Given the description of an element on the screen output the (x, y) to click on. 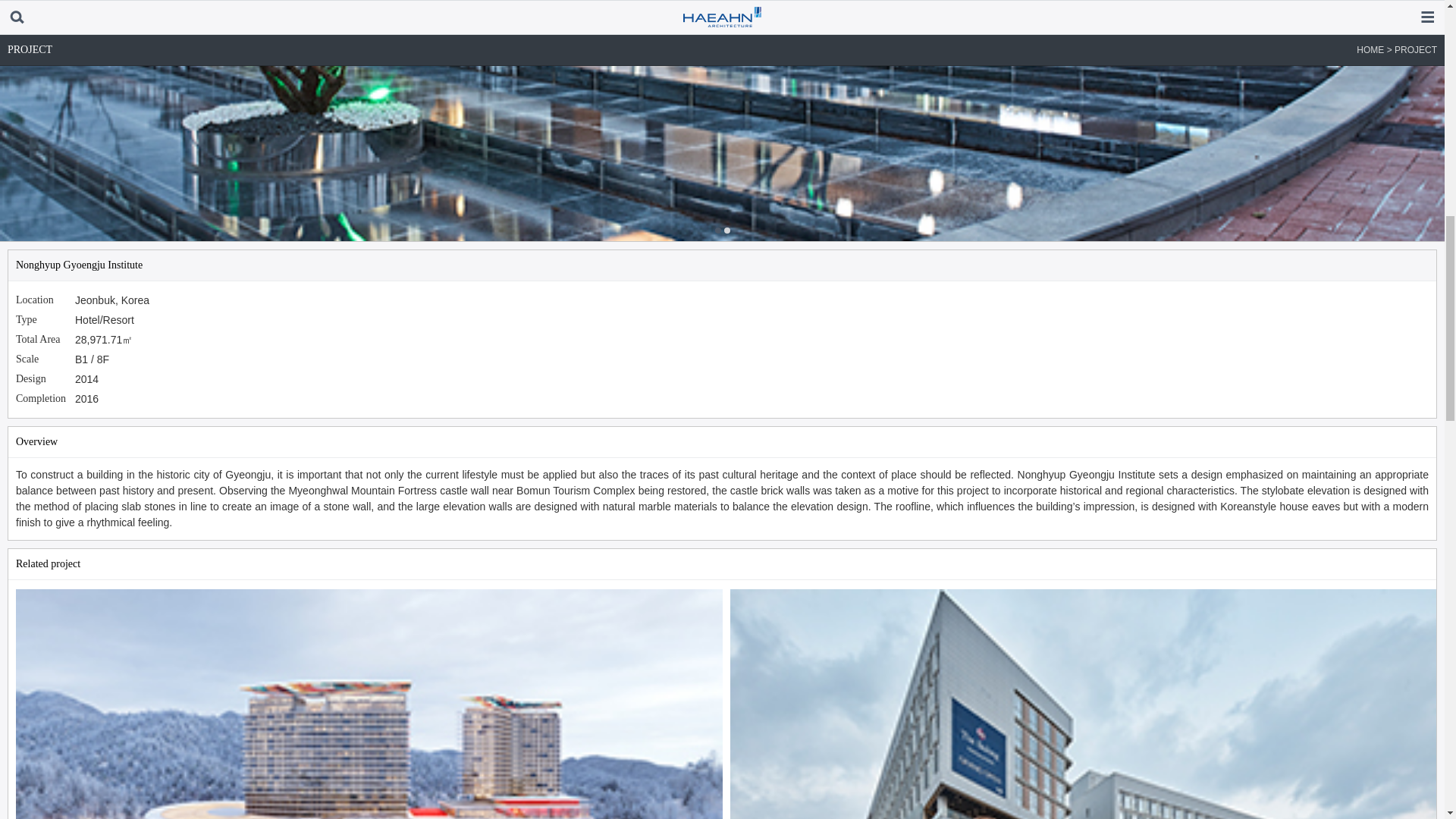
1 (726, 230)
1 (717, 230)
